Given the description of an element on the screen output the (x, y) to click on. 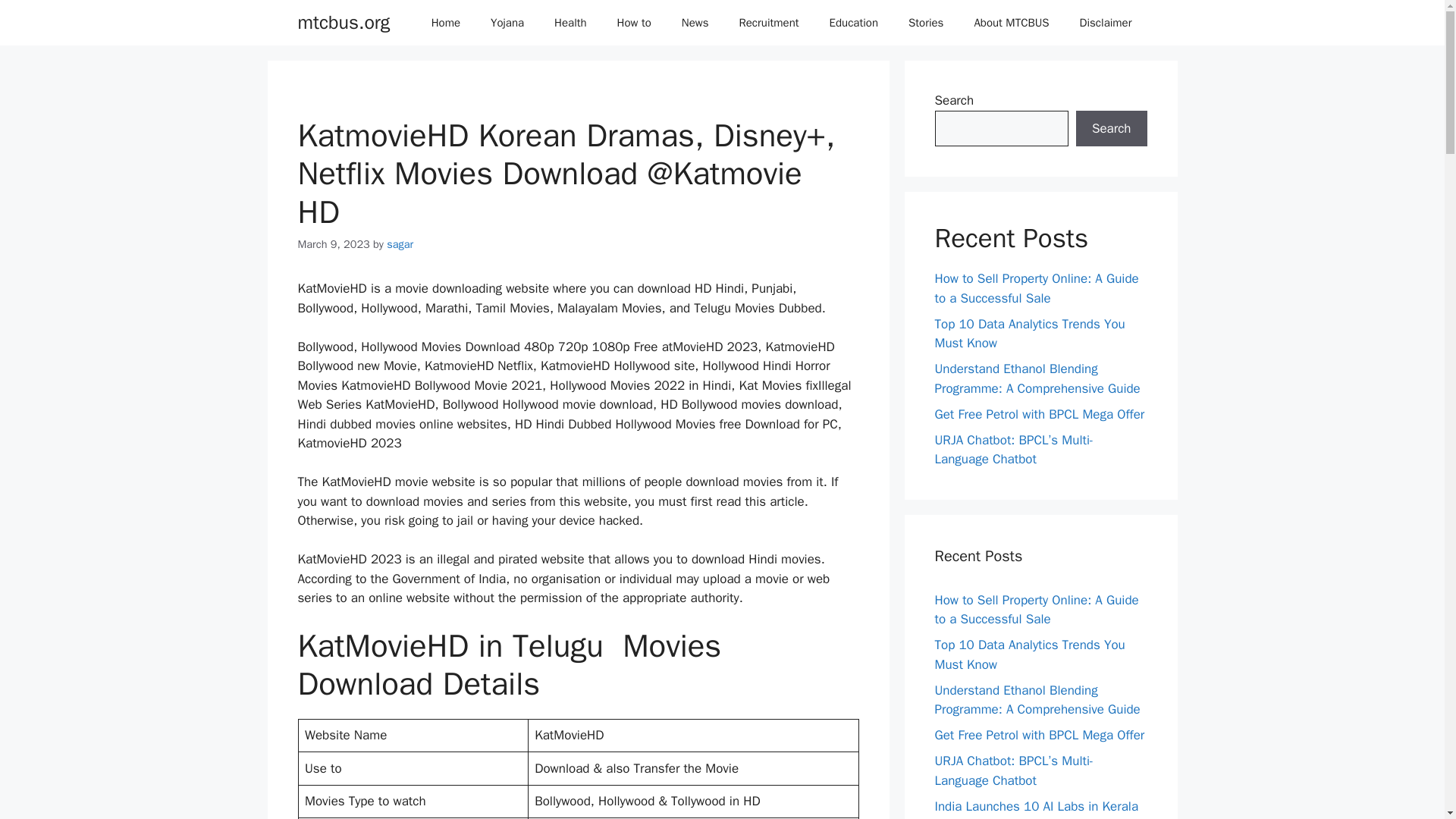
How to (634, 22)
Home (446, 22)
Yojana (507, 22)
News (694, 22)
sagar (400, 243)
Stories (925, 22)
About MTCBUS (1011, 22)
Health (570, 22)
Recruitment (768, 22)
Disclaimer (1105, 22)
